Given the description of an element on the screen output the (x, y) to click on. 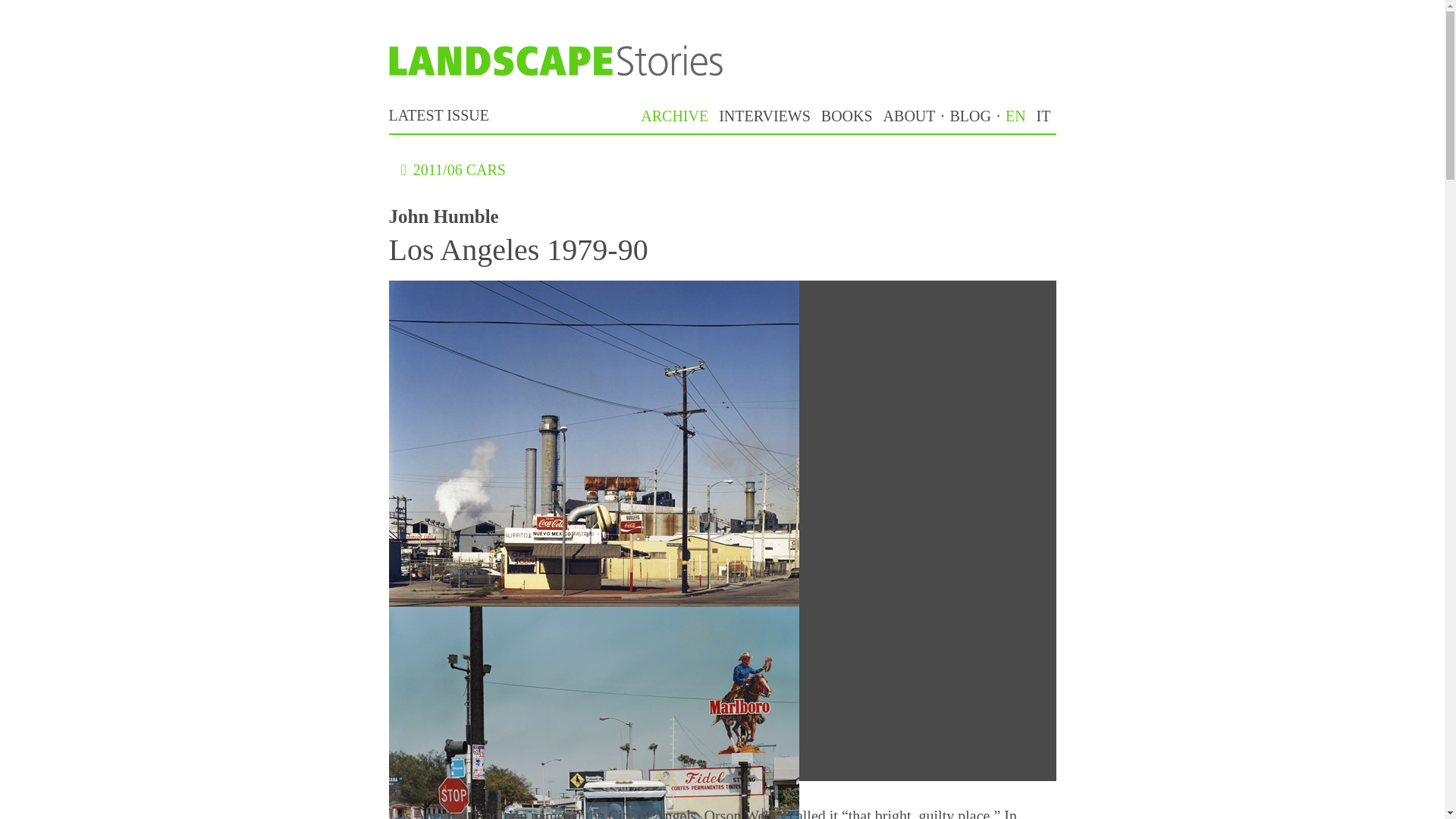
ARCHIVE (673, 115)
LATEST ISSUE (437, 115)
